Given the description of an element on the screen output the (x, y) to click on. 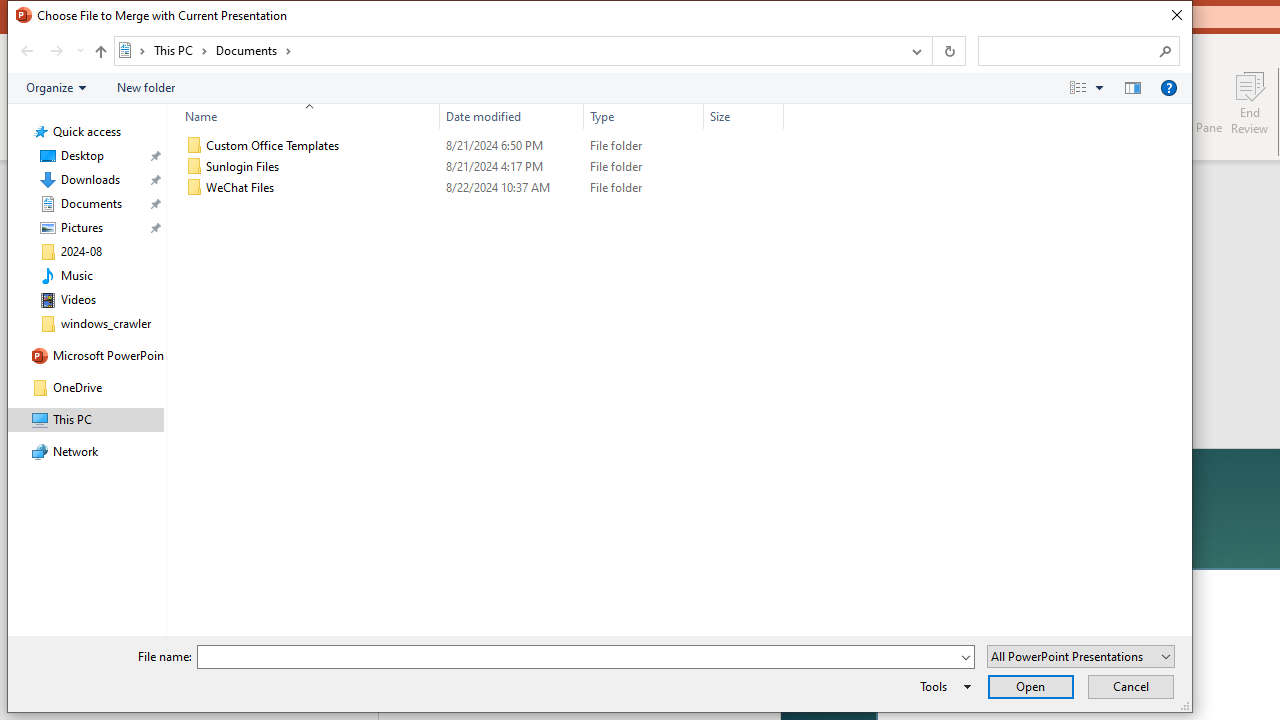
Command Module (599, 87)
File name: (586, 656)
Date modified (511, 115)
Up band toolbar (100, 54)
Documents (253, 50)
Back (Alt + Left Arrow) (26, 51)
Size (743, 187)
Forward (Alt + Right Arrow) (56, 51)
Tools (942, 686)
Navigation buttons (50, 51)
Type (643, 115)
Type (643, 187)
Sunlogin Files (480, 166)
Size (743, 115)
